Given the description of an element on the screen output the (x, y) to click on. 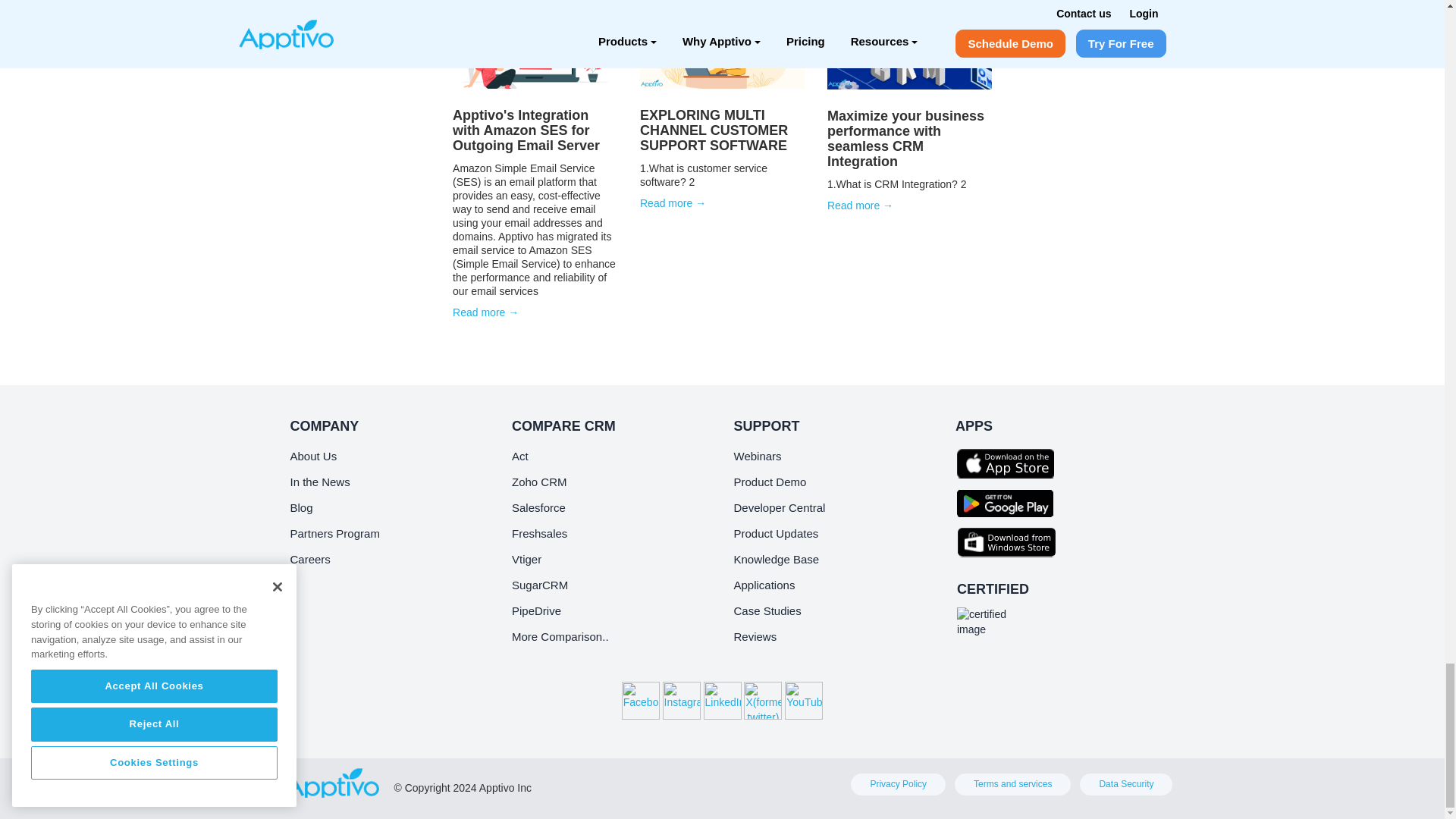
Instagram (681, 700)
YouTube (803, 700)
Download on the Windows Store (1009, 542)
Facebook (640, 700)
In the News (319, 482)
LinkedIn (722, 700)
Download on the AppStore (1009, 463)
GET IT ON Google Play (1009, 502)
